Given the description of an element on the screen output the (x, y) to click on. 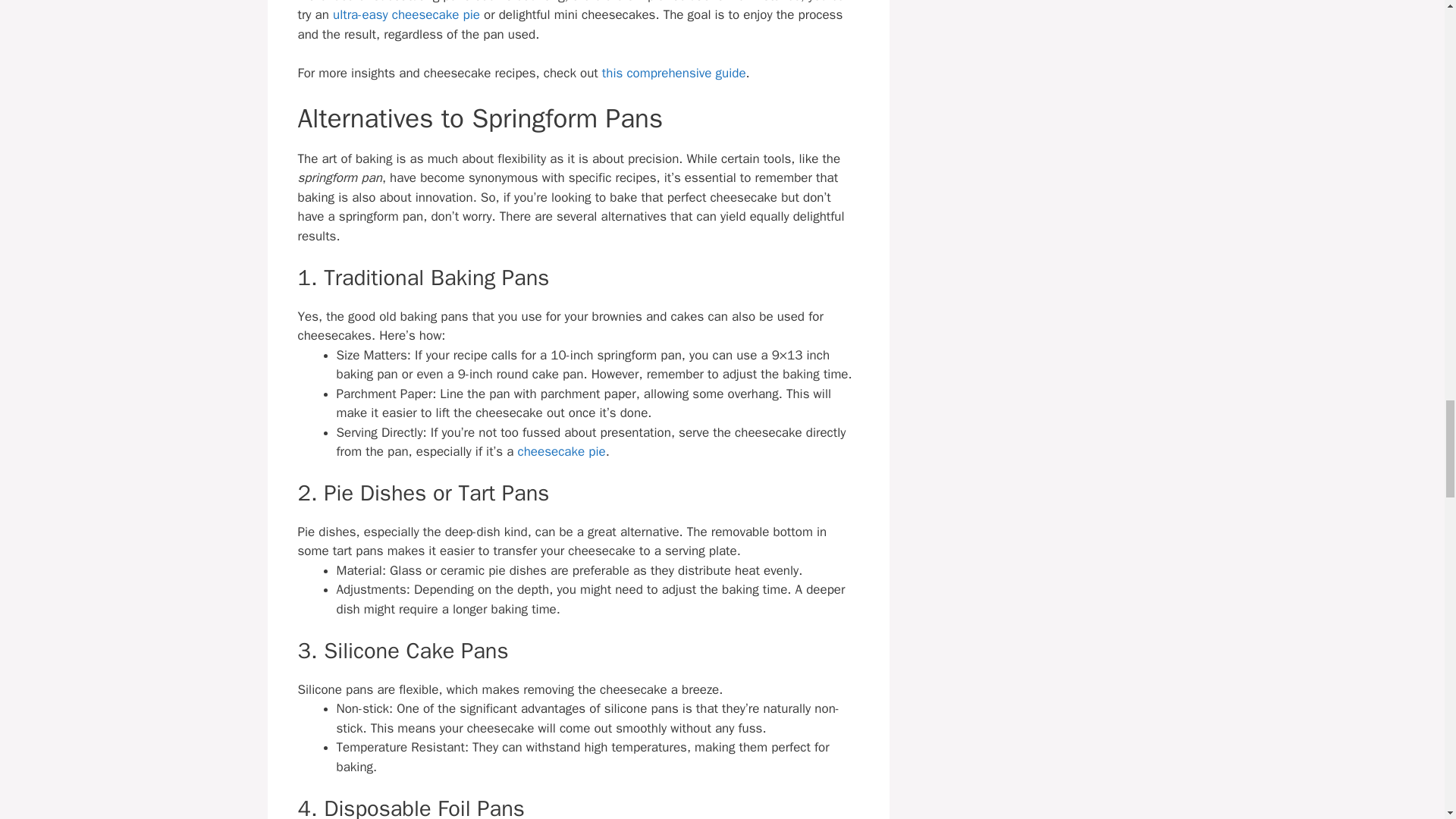
this comprehensive guide (673, 73)
ultra-easy cheesecake pie (406, 14)
cheesecake pie (561, 451)
